Given the description of an element on the screen output the (x, y) to click on. 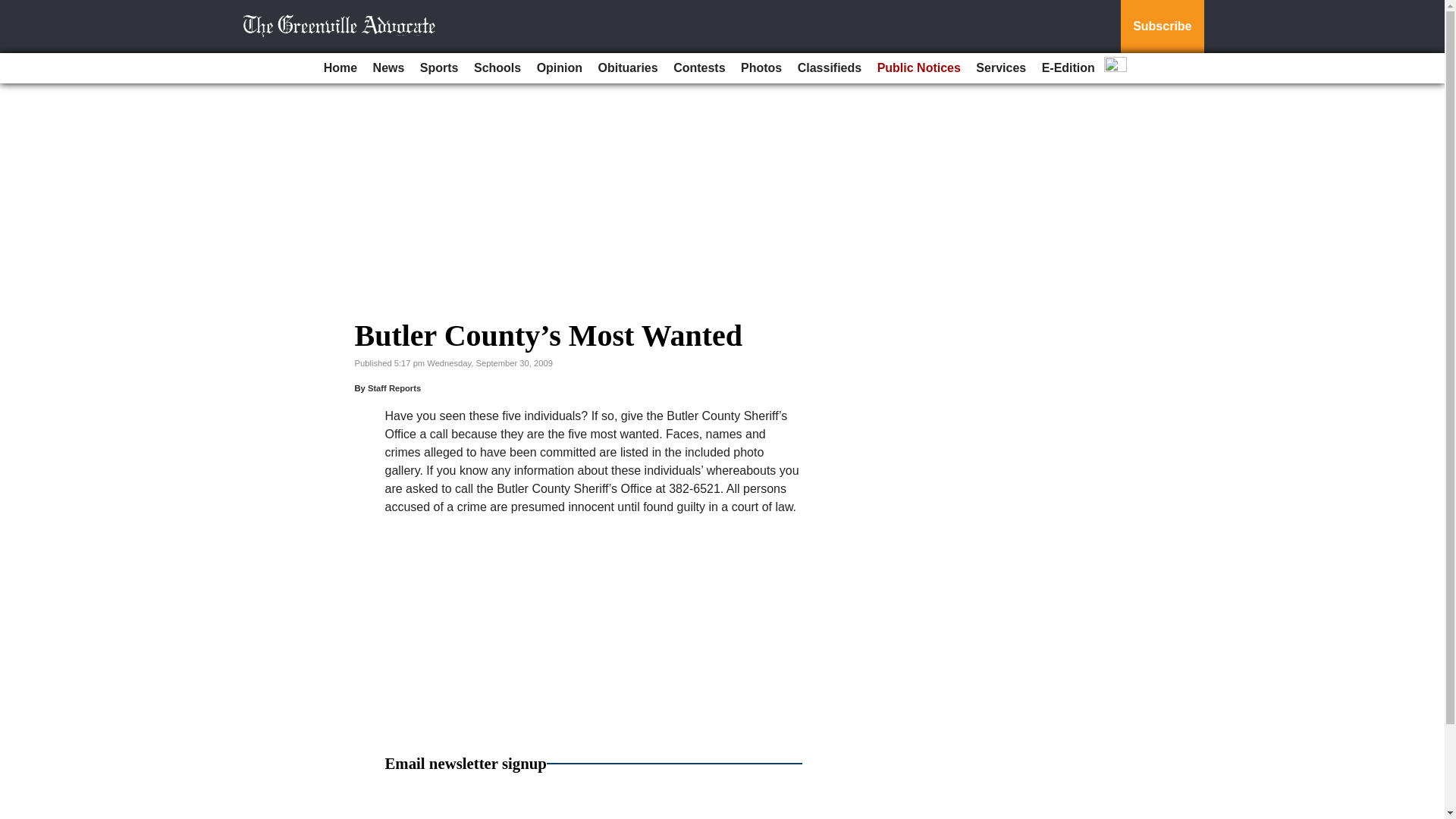
Services (1000, 68)
Home (339, 68)
Opinion (559, 68)
Sports (438, 68)
Obituaries (627, 68)
Public Notices (918, 68)
Go (13, 9)
E-Edition (1067, 68)
Classifieds (829, 68)
Schools (497, 68)
